Given the description of an element on the screen output the (x, y) to click on. 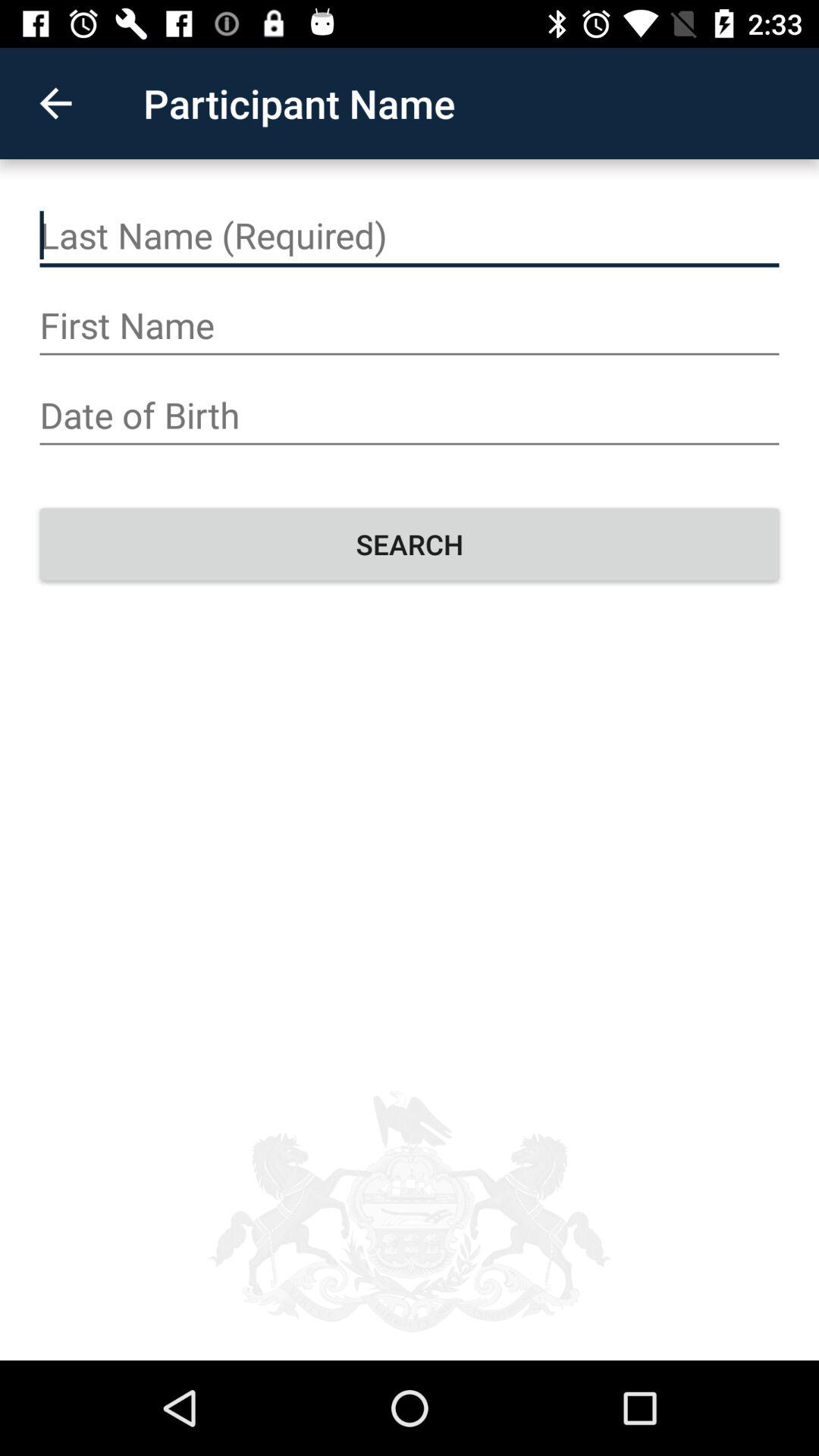
enter your name (409, 235)
